Given the description of an element on the screen output the (x, y) to click on. 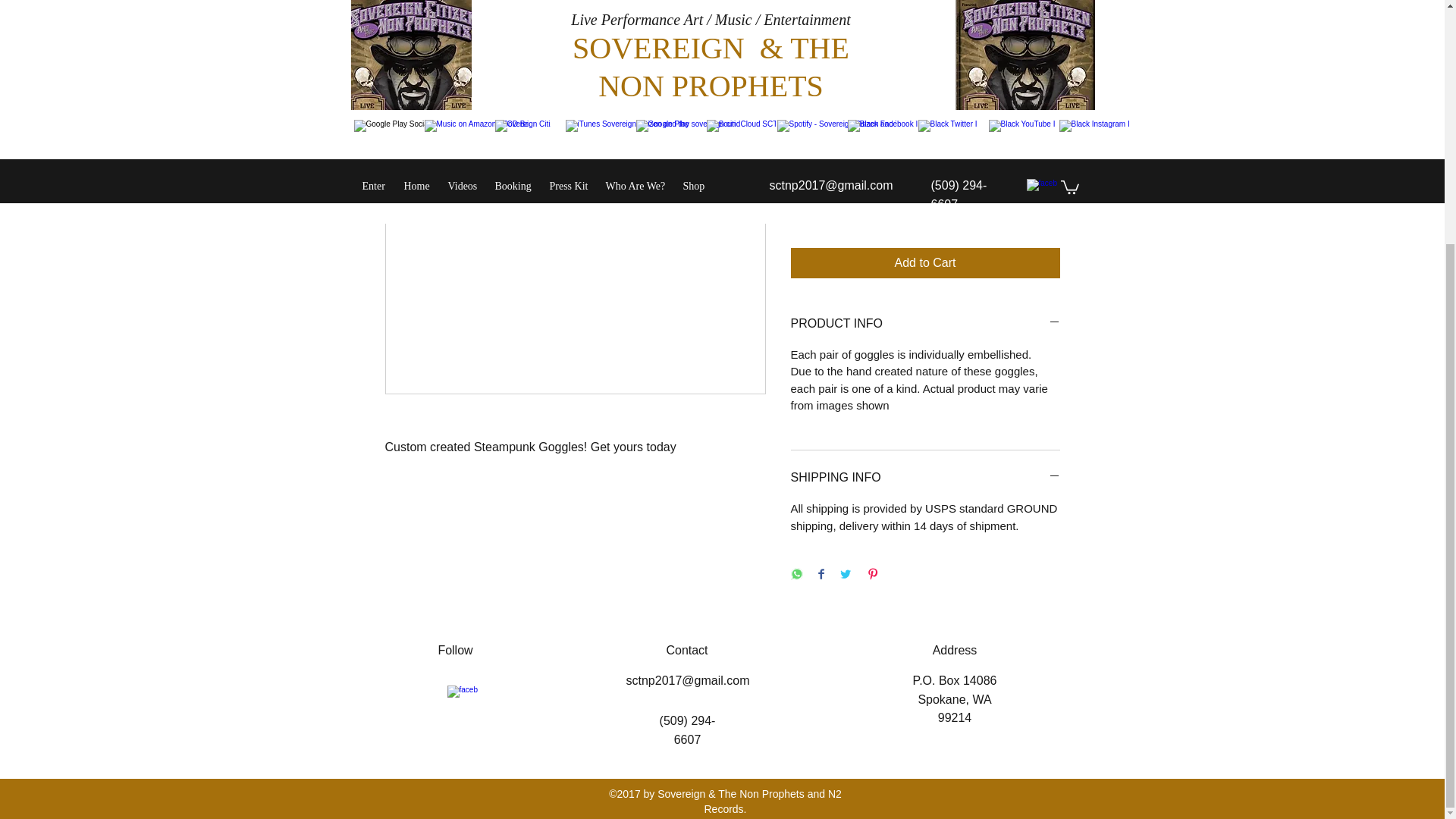
SHIPPING INFO (924, 477)
One size (924, 132)
Add to Cart (924, 263)
PRODUCT INFO (924, 323)
1 (823, 206)
